Given the description of an element on the screen output the (x, y) to click on. 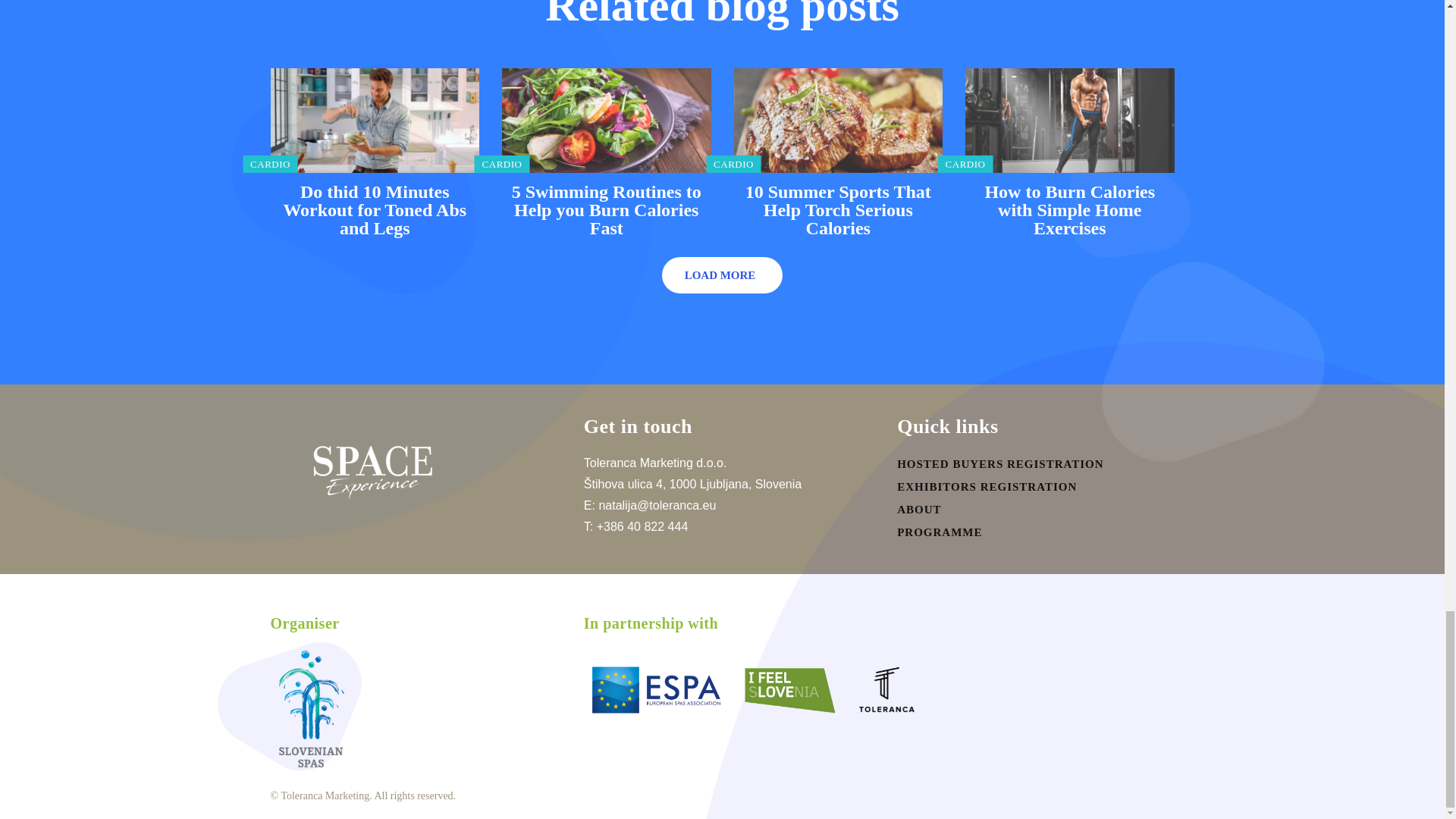
Do thid 10 Minutes Workout for Toned Abs and Legs (373, 209)
How to Burn Calories with Simple Home Exercises (1069, 119)
10 Summer Sports That Help Torch Serious Calories (838, 209)
5 Swimming Routines to Help you Burn Calories Fast (606, 209)
10 Summer Sports That Help Torch Serious Calories (838, 119)
5 Swimming Routines to Help you Burn Calories Fast (606, 119)
Do thid 10 Minutes Workout for Toned Abs and Legs (374, 119)
